Given the description of an element on the screen output the (x, y) to click on. 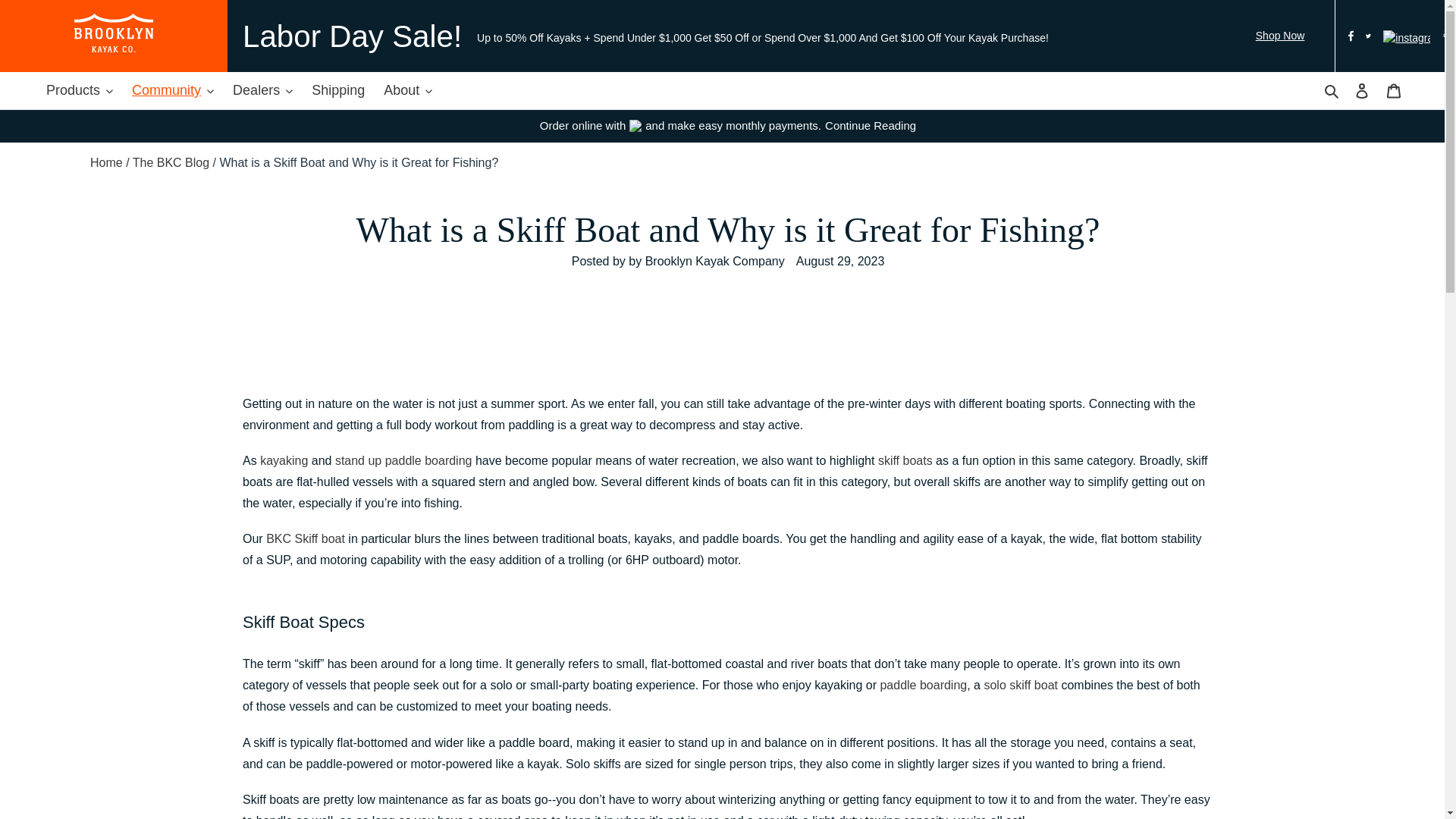
Community (180, 90)
stand up paddle boarding (402, 460)
solo skiff boat (1021, 684)
BKC Skiff boat (305, 538)
Twitter (1368, 37)
About (415, 90)
kayaking (283, 460)
Facebook (1350, 37)
Shipping (345, 90)
skiff boats (905, 460)
